Given the description of an element on the screen output the (x, y) to click on. 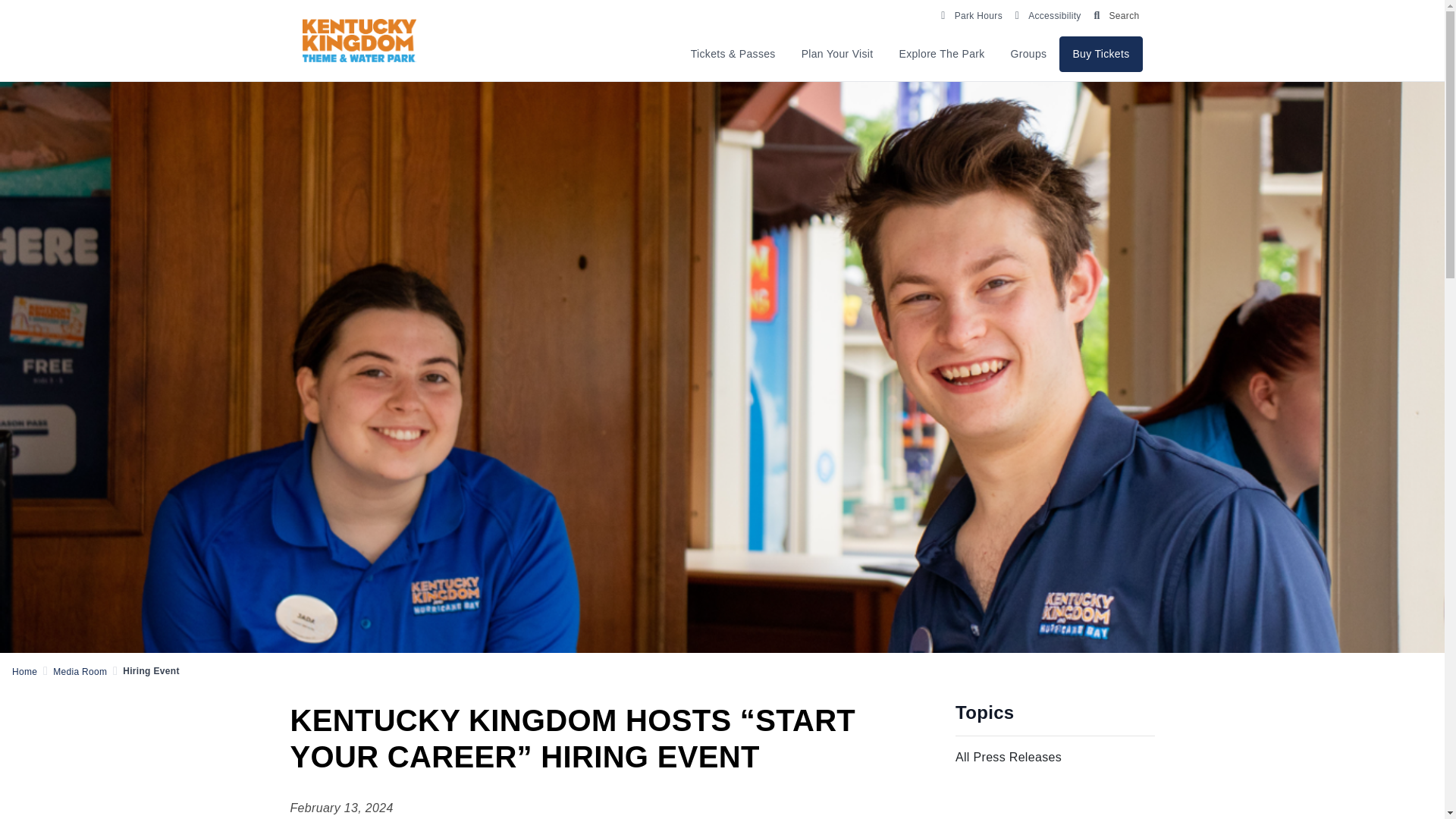
Accessibility (1046, 14)
Park Hours (970, 14)
Plan Your Visit (837, 54)
Search (1112, 14)
